Given the description of an element on the screen output the (x, y) to click on. 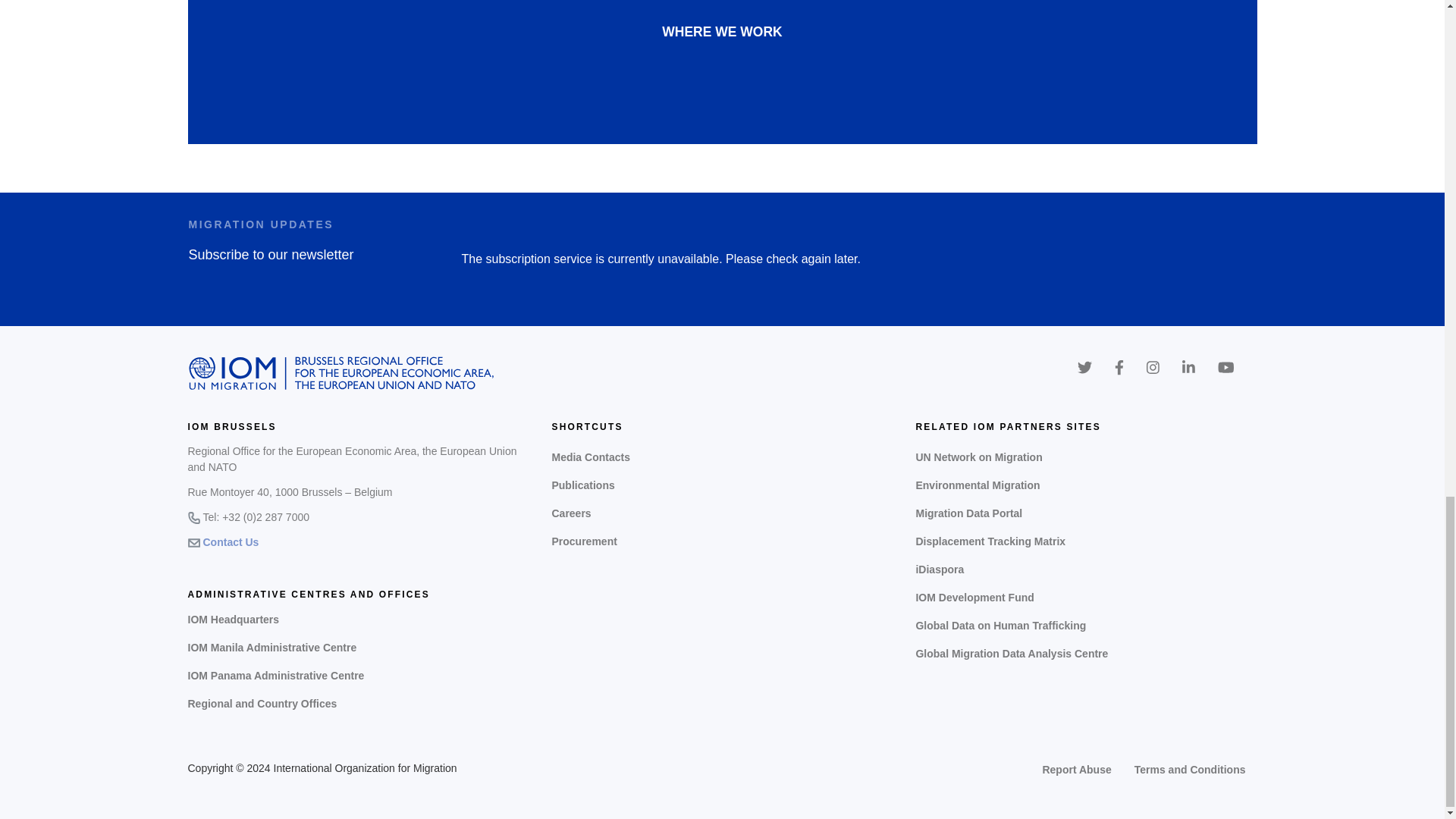
Contact Us (231, 542)
Home (341, 372)
